Given the description of an element on the screen output the (x, y) to click on. 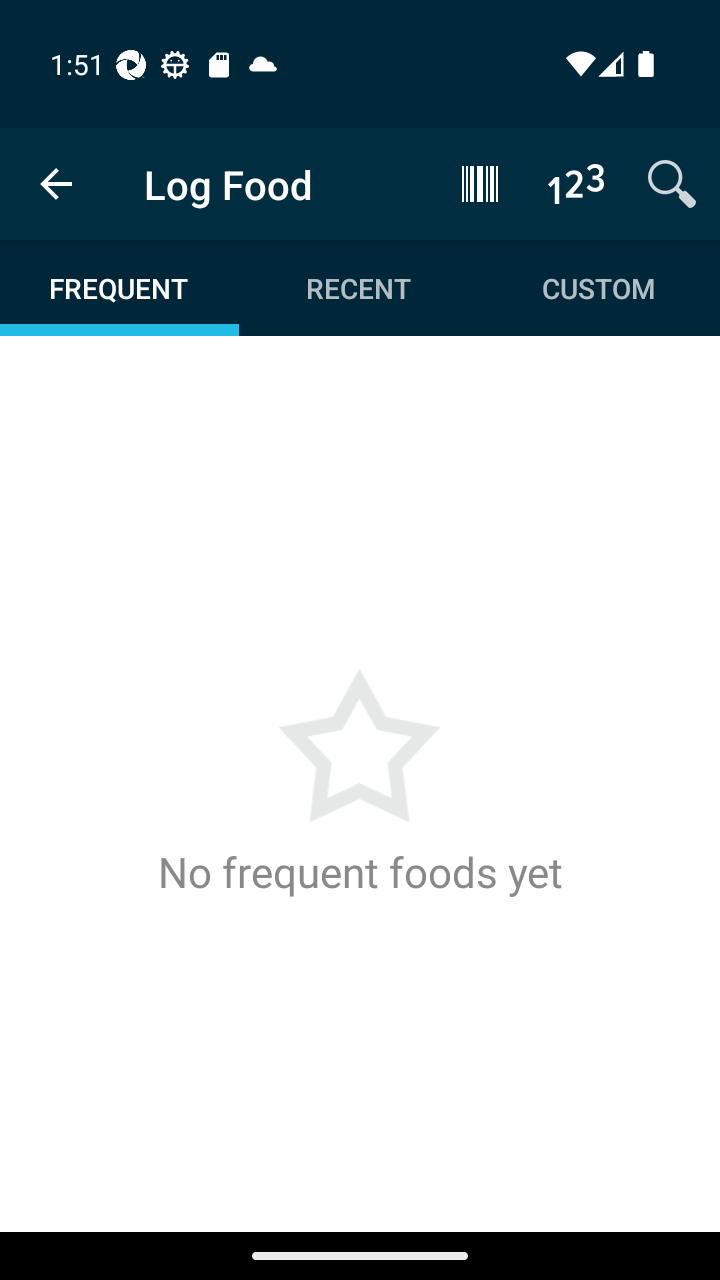
Navigate up (56, 184)
Barcode scanner (479, 183)
Add Quick Calories (575, 183)
Search database (672, 183)
FREQUENT (119, 287)
RECENT (358, 287)
CUSTOM (598, 287)
